Given the description of an element on the screen output the (x, y) to click on. 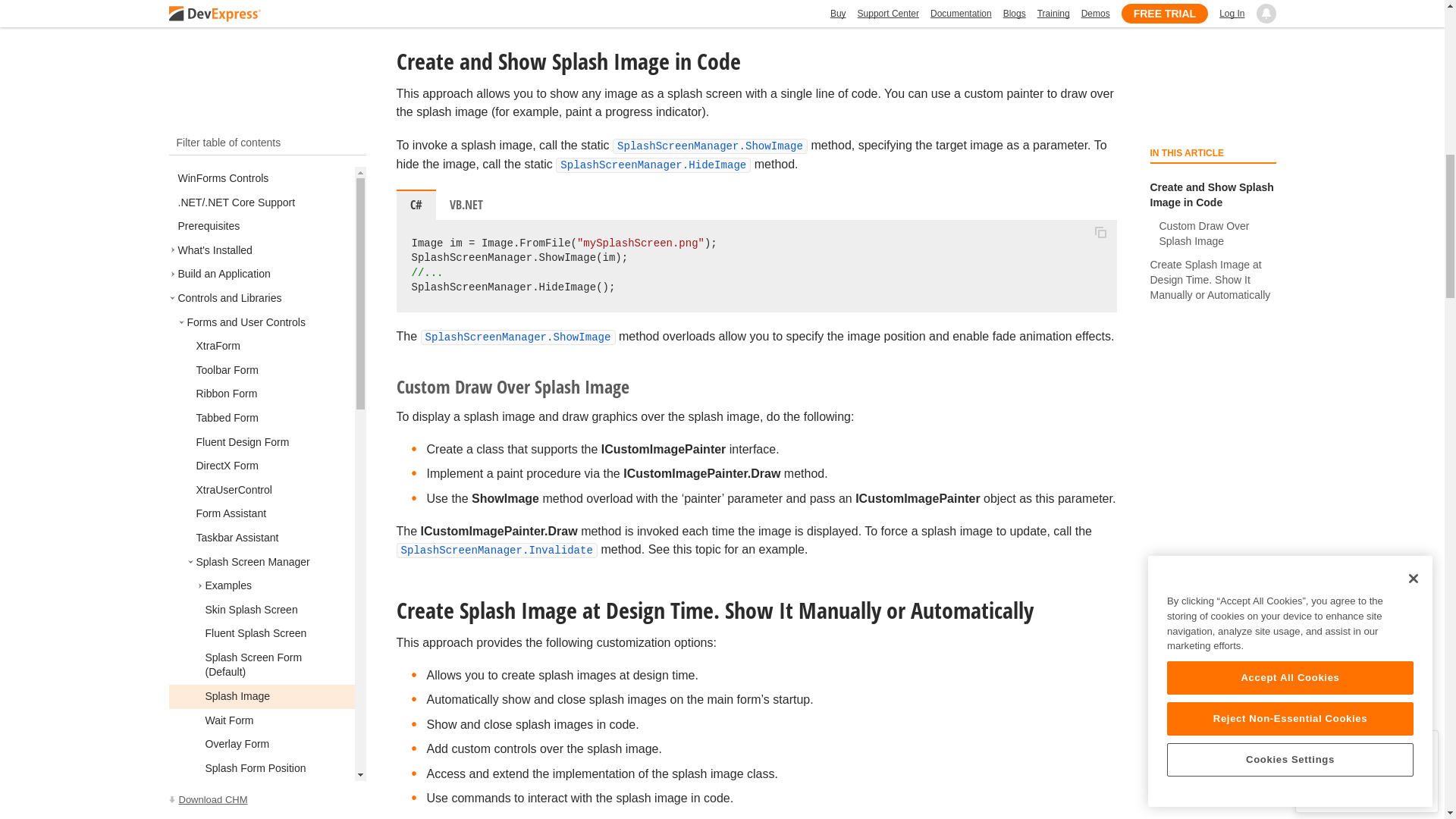
Copy (1100, 232)
